Given the description of an element on the screen output the (x, y) to click on. 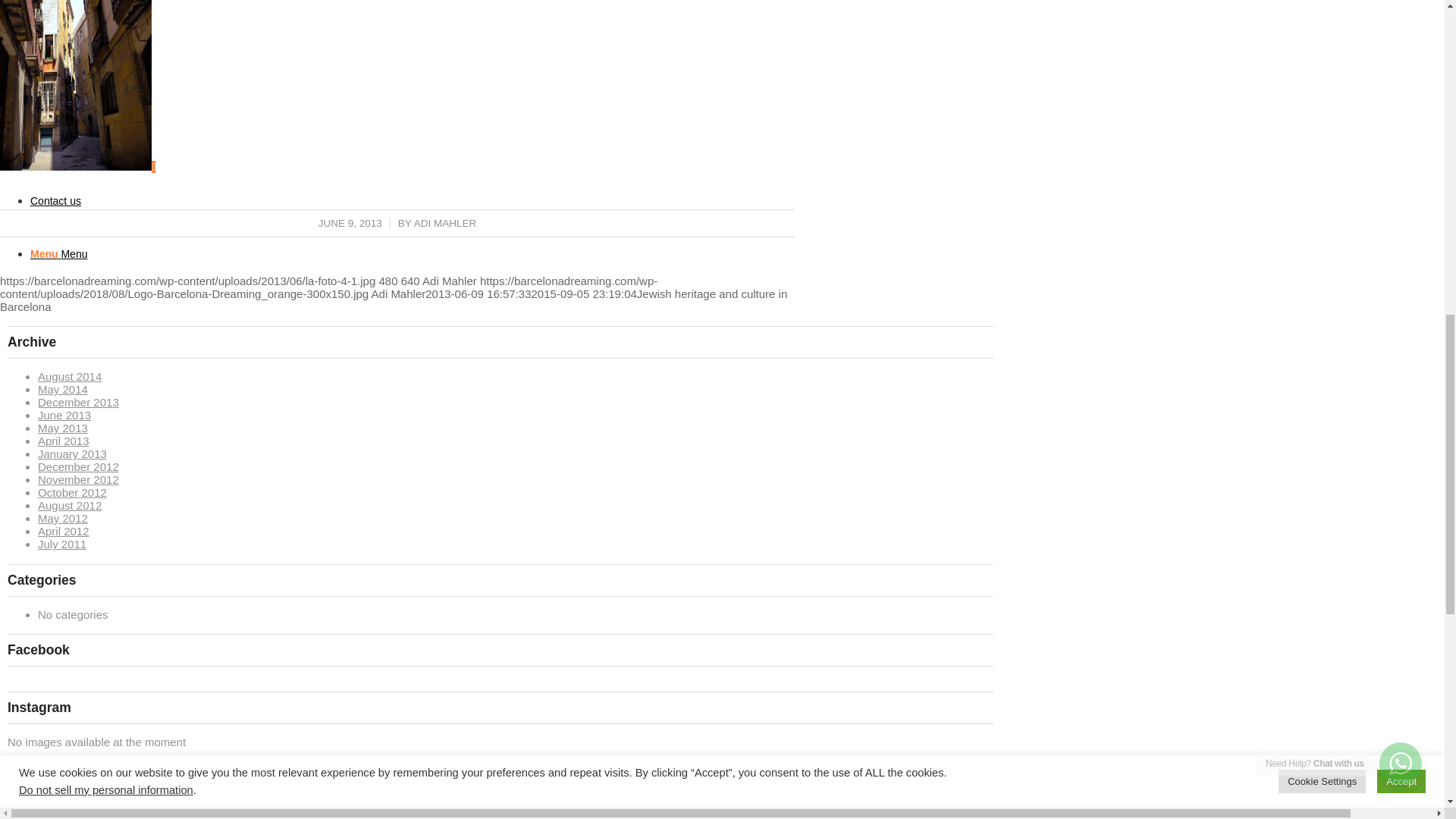
October 2012 (71, 492)
May 2014 (62, 389)
Posts by Adi Mahler (445, 223)
August 2012 (69, 504)
Contact us (55, 200)
Menu Menu (58, 254)
May 2013 (62, 427)
December 2012 (78, 466)
January 2013 (71, 453)
ADI MAHLER (445, 223)
FAQ (40, 147)
June 2013 (63, 414)
December 2013 (78, 401)
November 2012 (78, 479)
April 2013 (62, 440)
